Given the description of an element on the screen output the (x, y) to click on. 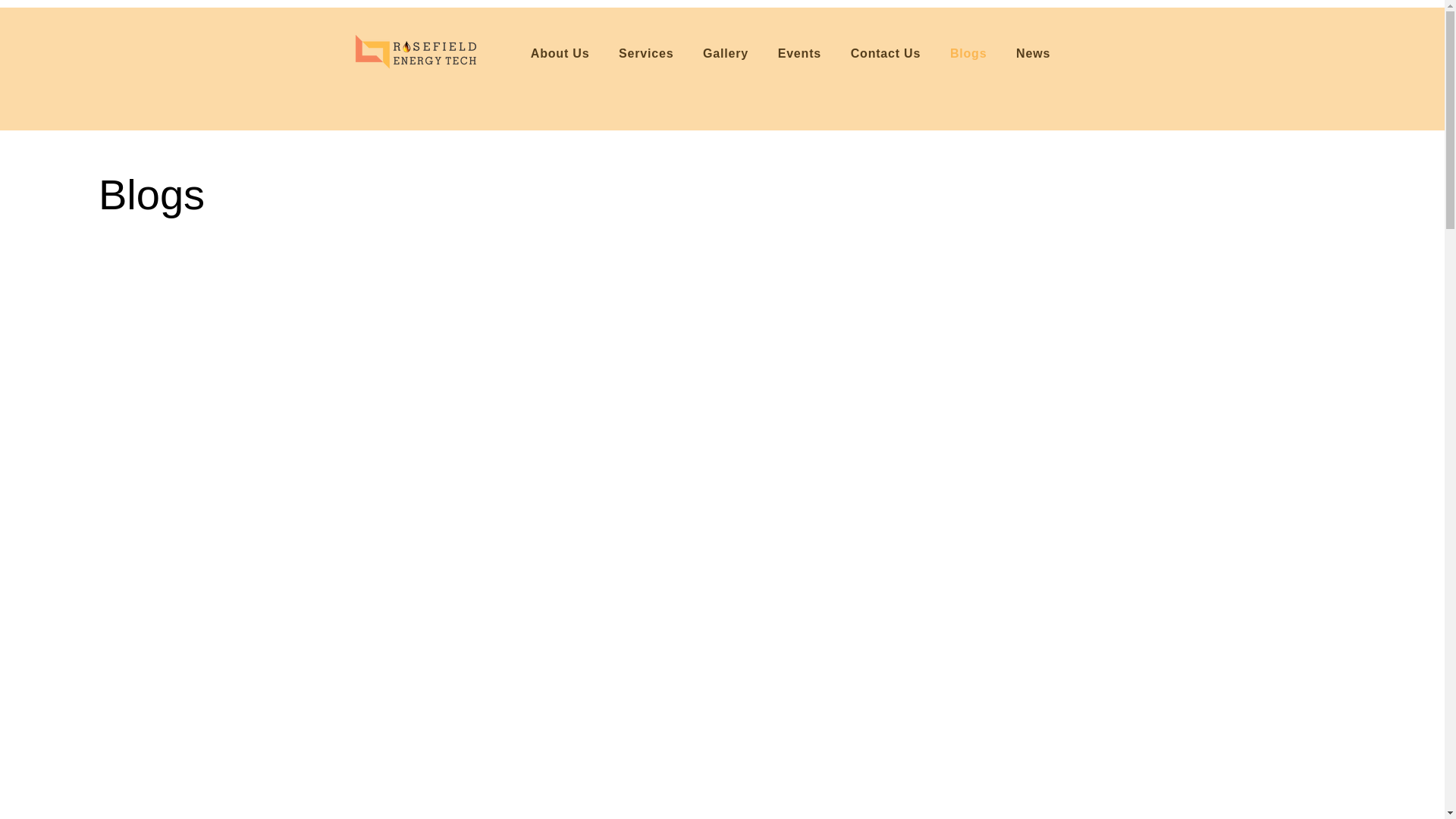
Gallery (725, 53)
News (1033, 53)
Blogs (968, 53)
Events (798, 53)
Services (646, 53)
Contact Us (884, 53)
About Us (558, 53)
